Given the description of an element on the screen output the (x, y) to click on. 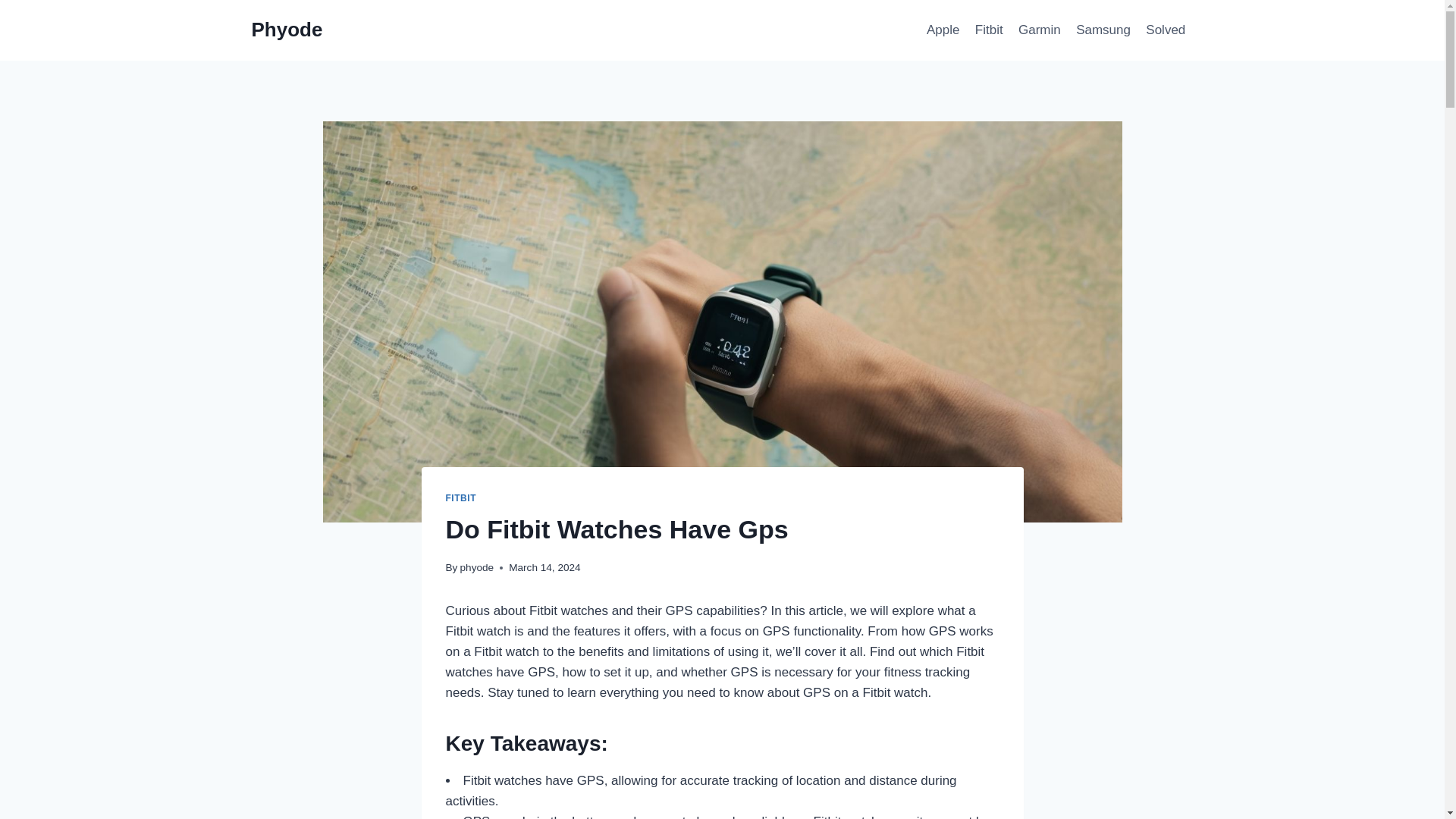
FITBIT (461, 498)
Fitbit (989, 30)
phyode (477, 567)
Solved (1165, 30)
Garmin (1039, 30)
Samsung (1103, 30)
Phyode (287, 29)
Apple (943, 30)
